Given the description of an element on the screen output the (x, y) to click on. 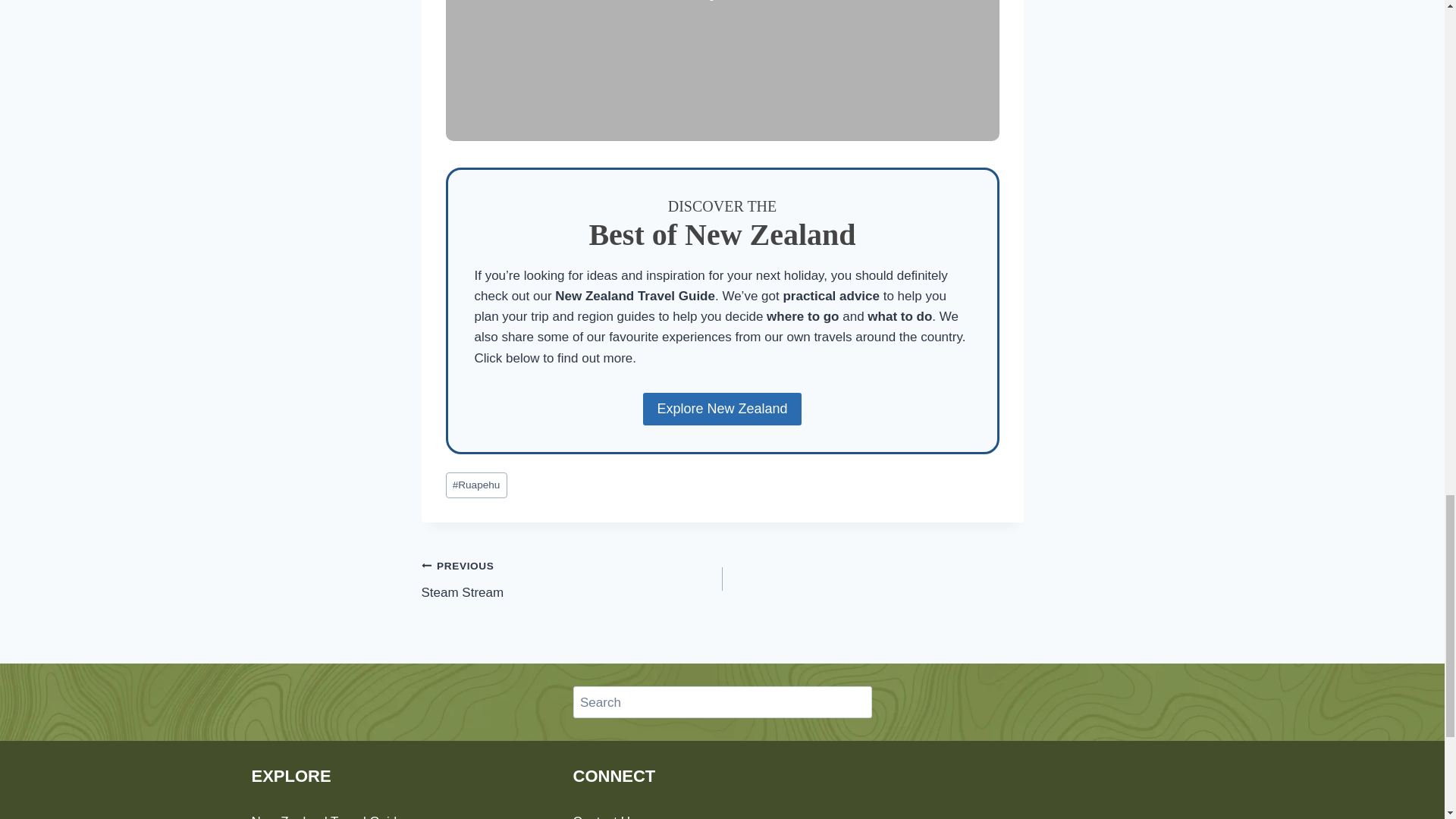
Ruapehu (475, 485)
New Zealand Travel Guide (327, 816)
Explore New Zealand (721, 409)
Contact Us (605, 816)
